Given the description of an element on the screen output the (x, y) to click on. 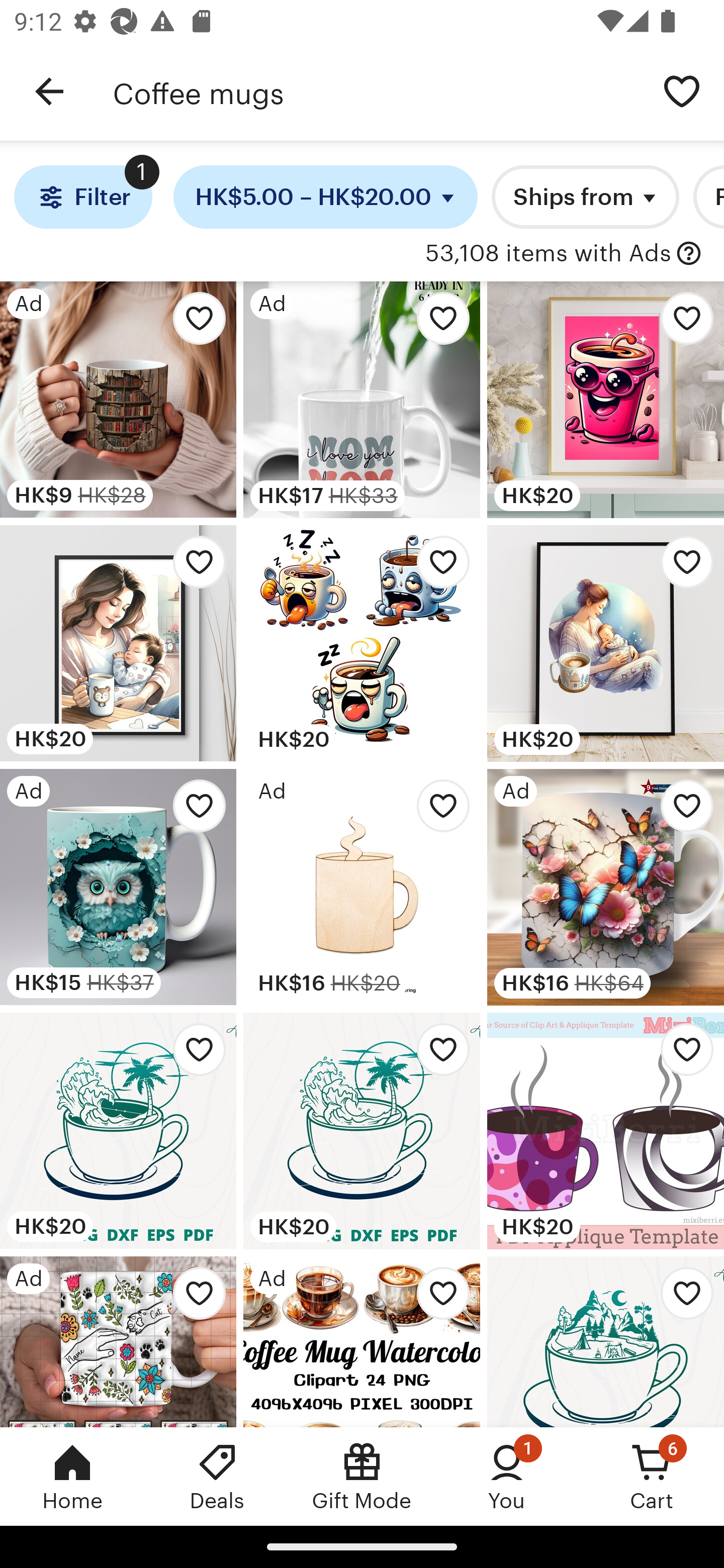
Navigate up (49, 91)
Save search (681, 90)
Coffee mugs (375, 91)
Filter (82, 197)
HK$5.00 – HK$20.00 (325, 197)
Ships from (585, 197)
53,108 items with Ads (548, 253)
with Ads (688, 253)
Deals (216, 1475)
Gift Mode (361, 1475)
You, 1 new notification You (506, 1475)
Cart, 6 new notifications Cart (651, 1475)
